Given the description of an element on the screen output the (x, y) to click on. 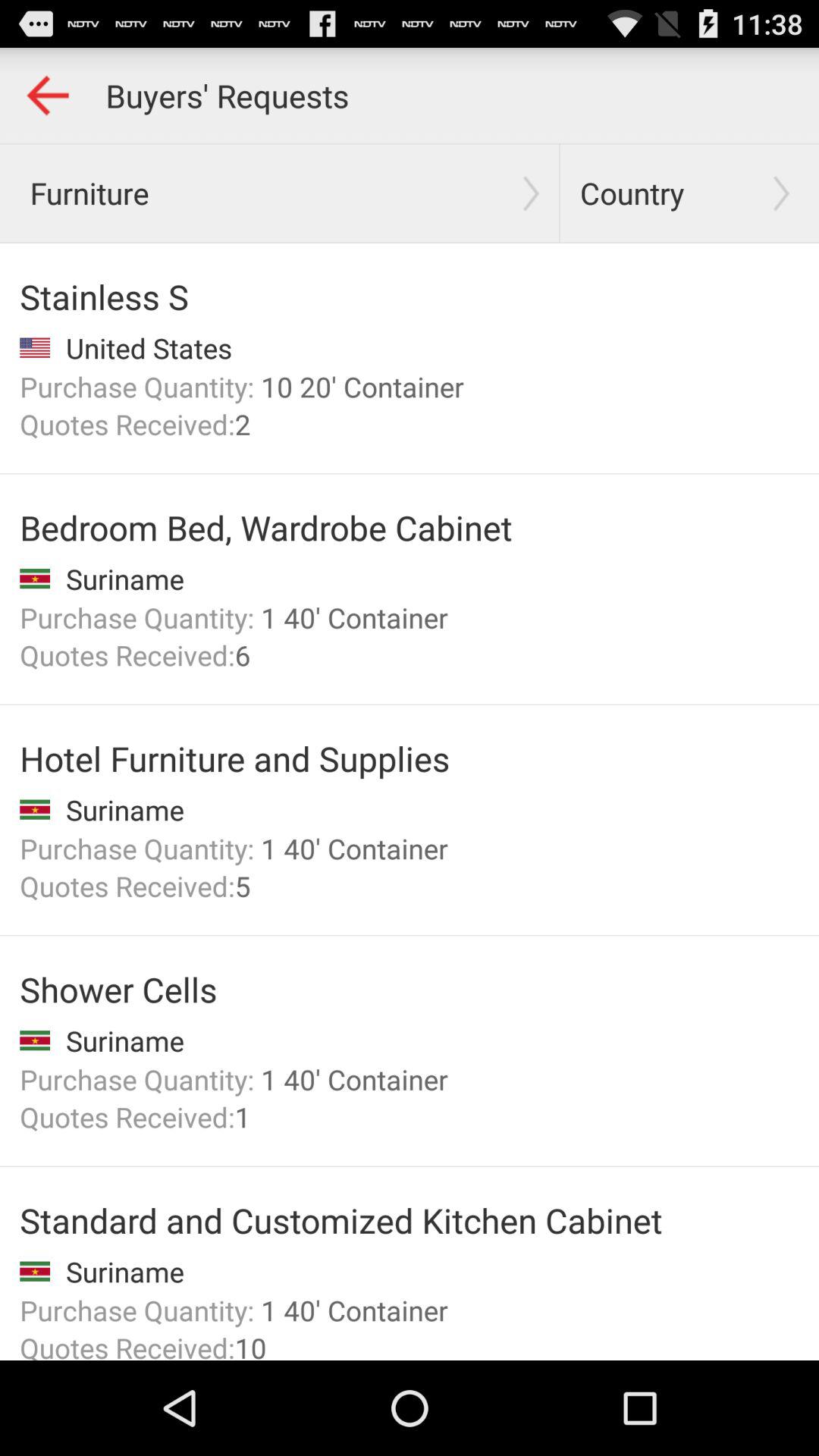
go back (47, 95)
